Given the description of an element on the screen output the (x, y) to click on. 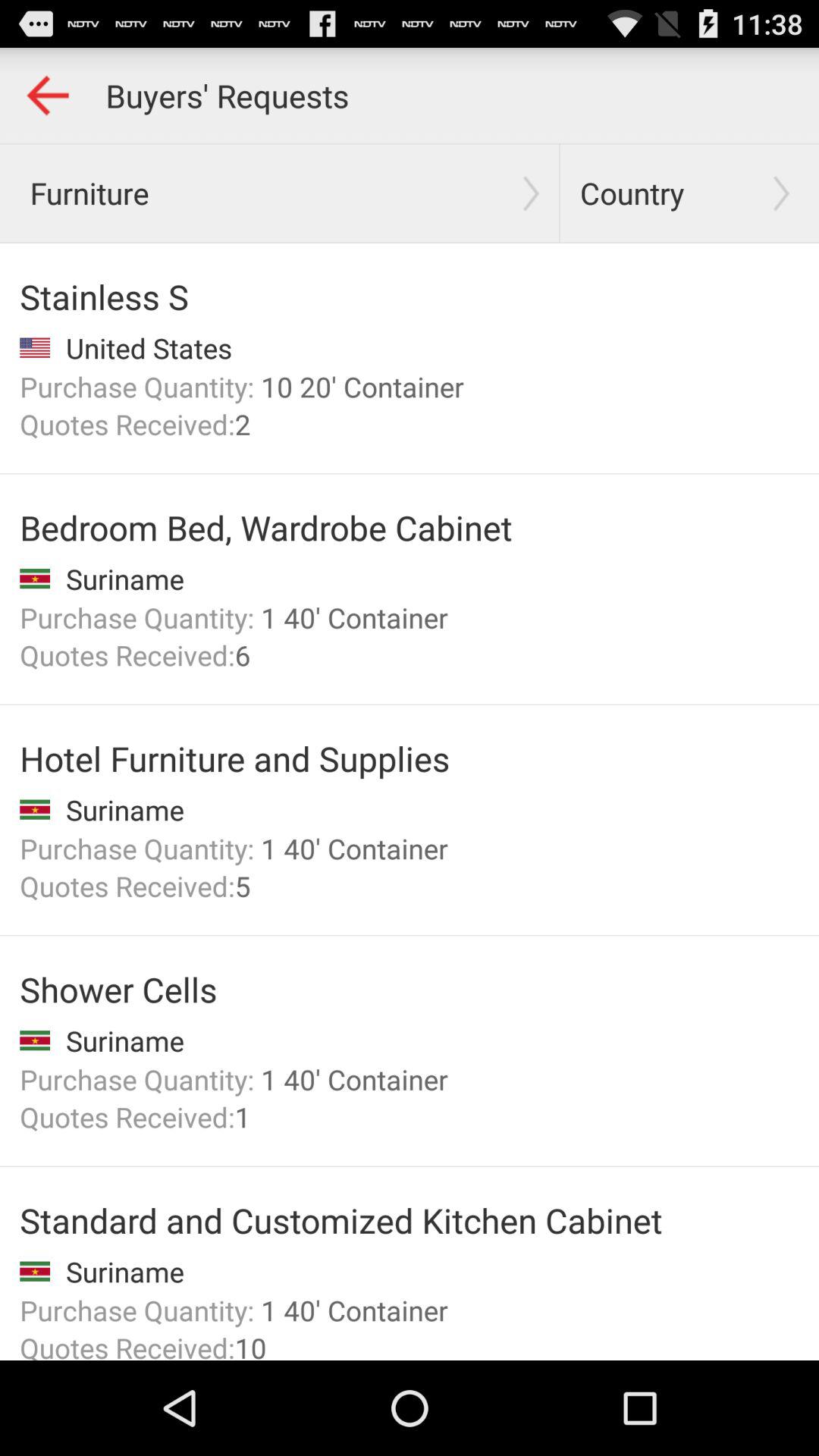
go back (47, 95)
